Given the description of an element on the screen output the (x, y) to click on. 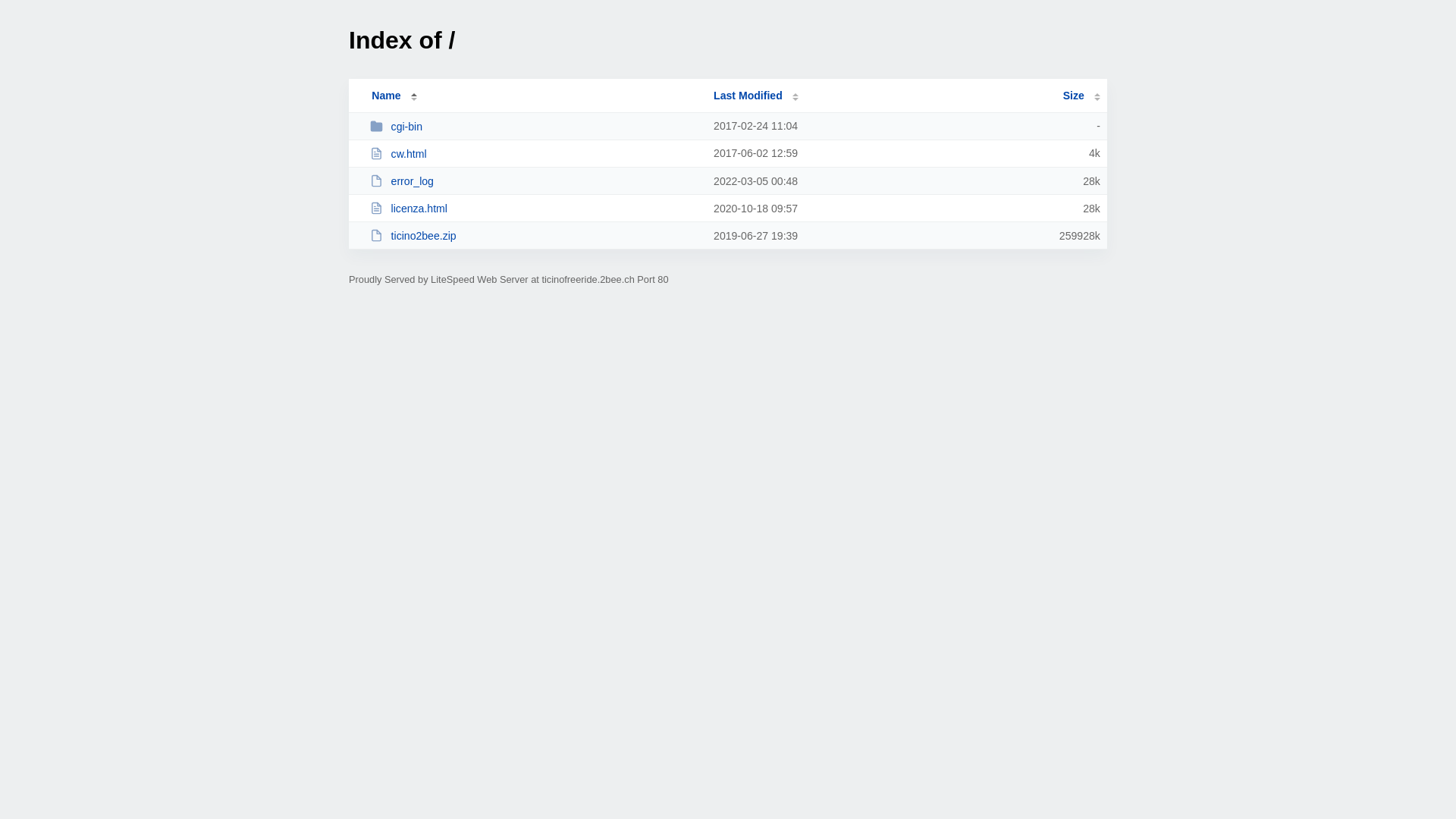
cw.html Element type: text (534, 153)
ticino2bee.zip Element type: text (534, 235)
Name Element type: text (385, 95)
licenza.html Element type: text (534, 207)
cgi-bin Element type: text (534, 125)
error_log Element type: text (534, 180)
Last Modified Element type: text (755, 95)
Size Element type: text (1081, 95)
